Given the description of an element on the screen output the (x, y) to click on. 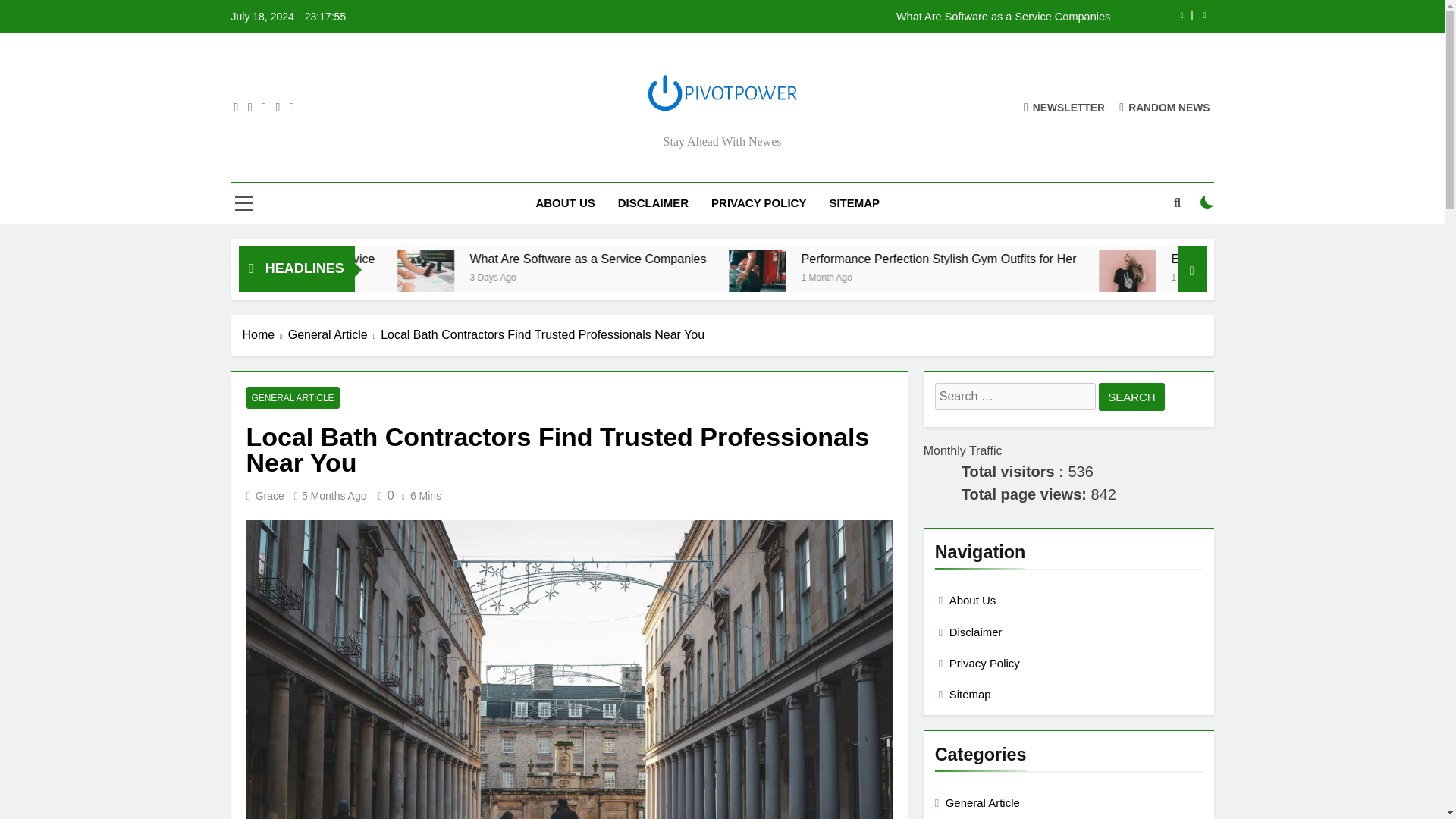
Performance Perfection Stylish Gym Outfits for Her (1108, 258)
DISCLAIMER (653, 202)
1 Month Ago (994, 276)
3 Days Ago (668, 276)
NEWSLETTER (1064, 106)
What Are Software as a Service Companies (574, 278)
What Are Software as a Service Companies (571, 278)
What Are Software as a Service (439, 258)
Search (1131, 397)
What Are Software as a Service (473, 258)
3 Days Ago (407, 276)
ABOUT US (564, 202)
What Are Software as a Service Companies (817, 16)
What Are Software as a Service Companies (765, 258)
RANDOM NEWS (1164, 106)
